Given the description of an element on the screen output the (x, y) to click on. 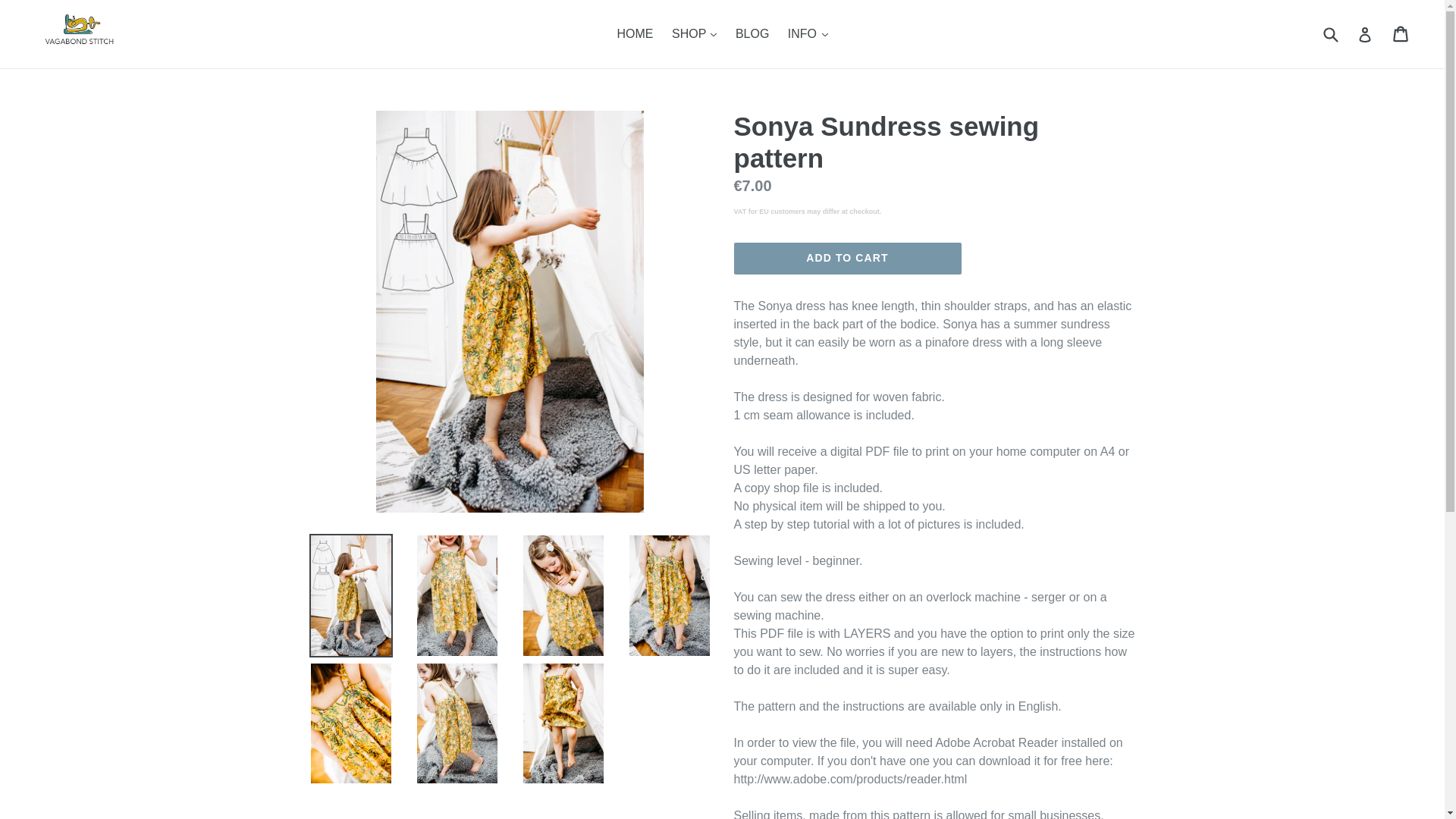
HOME (635, 33)
